Given the description of an element on the screen output the (x, y) to click on. 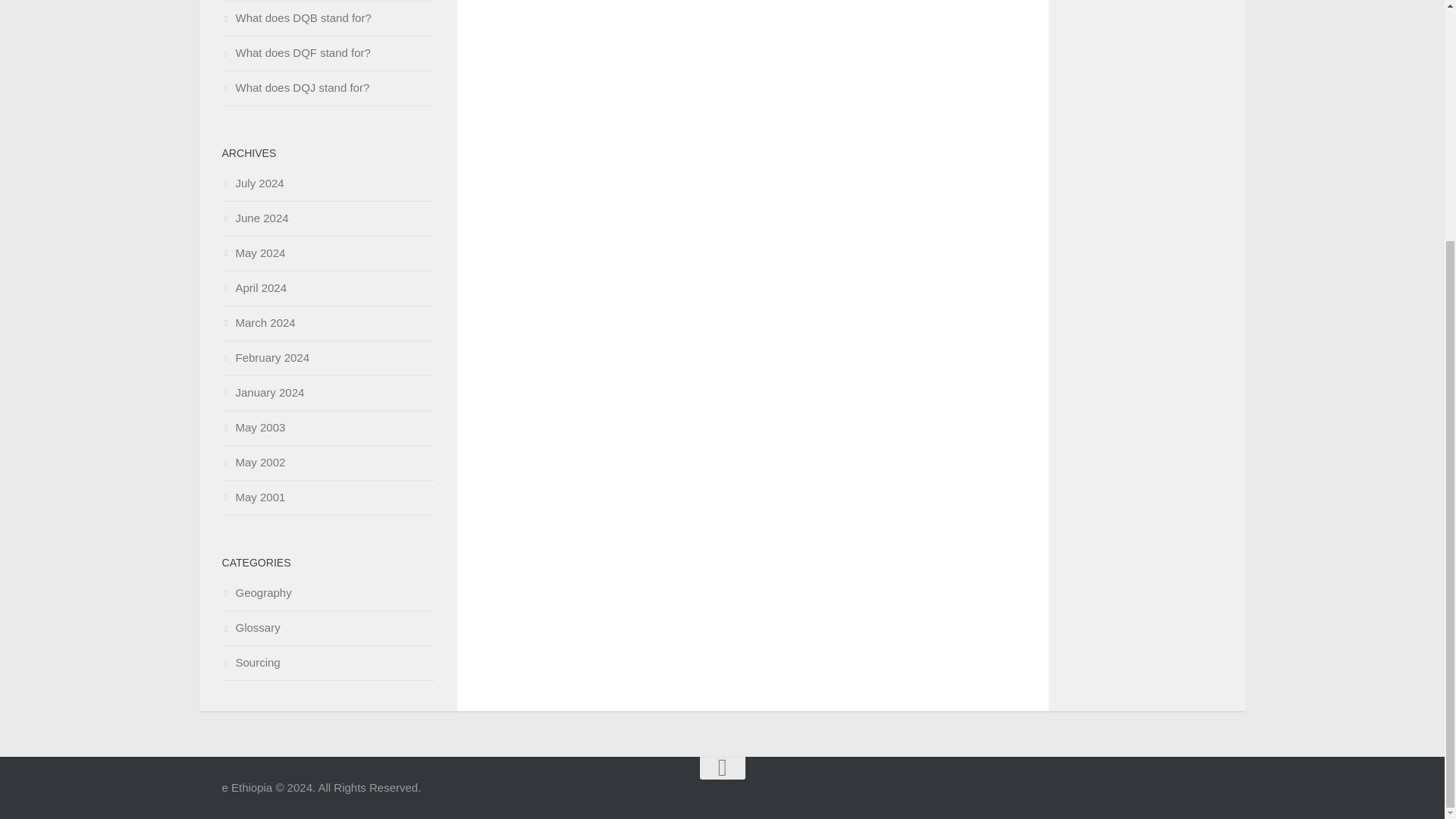
May 2003 (253, 427)
Sourcing (250, 662)
Glossary (250, 626)
April 2024 (253, 287)
July 2024 (252, 182)
What does DQJ stand for? (295, 87)
Geography (256, 592)
June 2024 (254, 217)
February 2024 (264, 357)
What does DQF stand for? (295, 51)
May 2001 (253, 496)
May 2024 (253, 252)
January 2024 (262, 391)
March 2024 (258, 322)
May 2002 (253, 461)
